Given the description of an element on the screen output the (x, y) to click on. 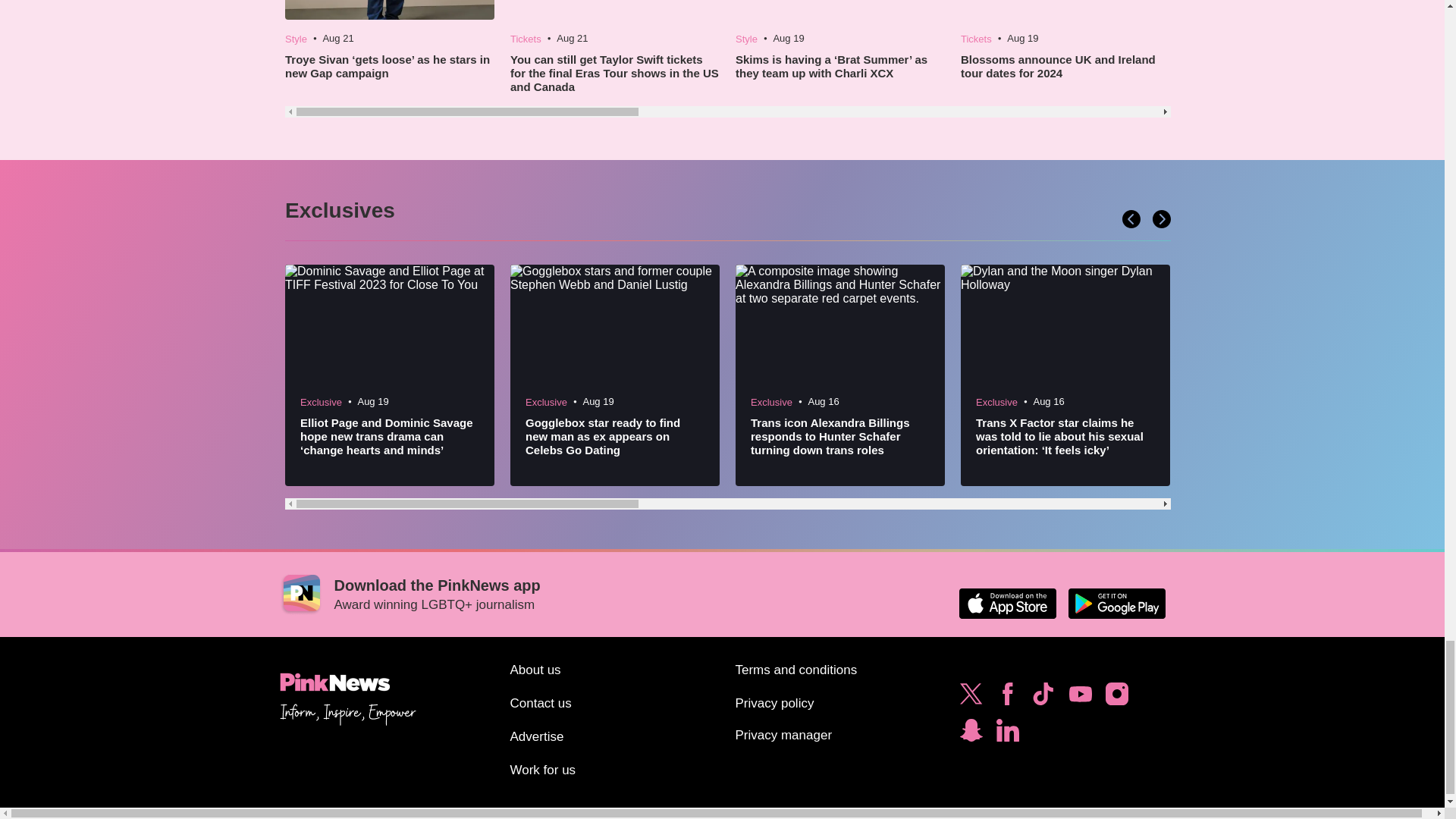
Follow PinkNews on Twitter (970, 697)
Follow PinkNews on TikTok (1042, 697)
Subscribe to PinkNews on YouTube (1079, 697)
Download the PinkNews app on Google Play (1115, 603)
Follow PinkNews on Instagram (1116, 697)
Follow PinkNews on LinkedIn (1007, 733)
Subscribe to PinkNews on Snapchat (970, 733)
Download the PinkNews app on the Apple App Store (1006, 603)
